Given the description of an element on the screen output the (x, y) to click on. 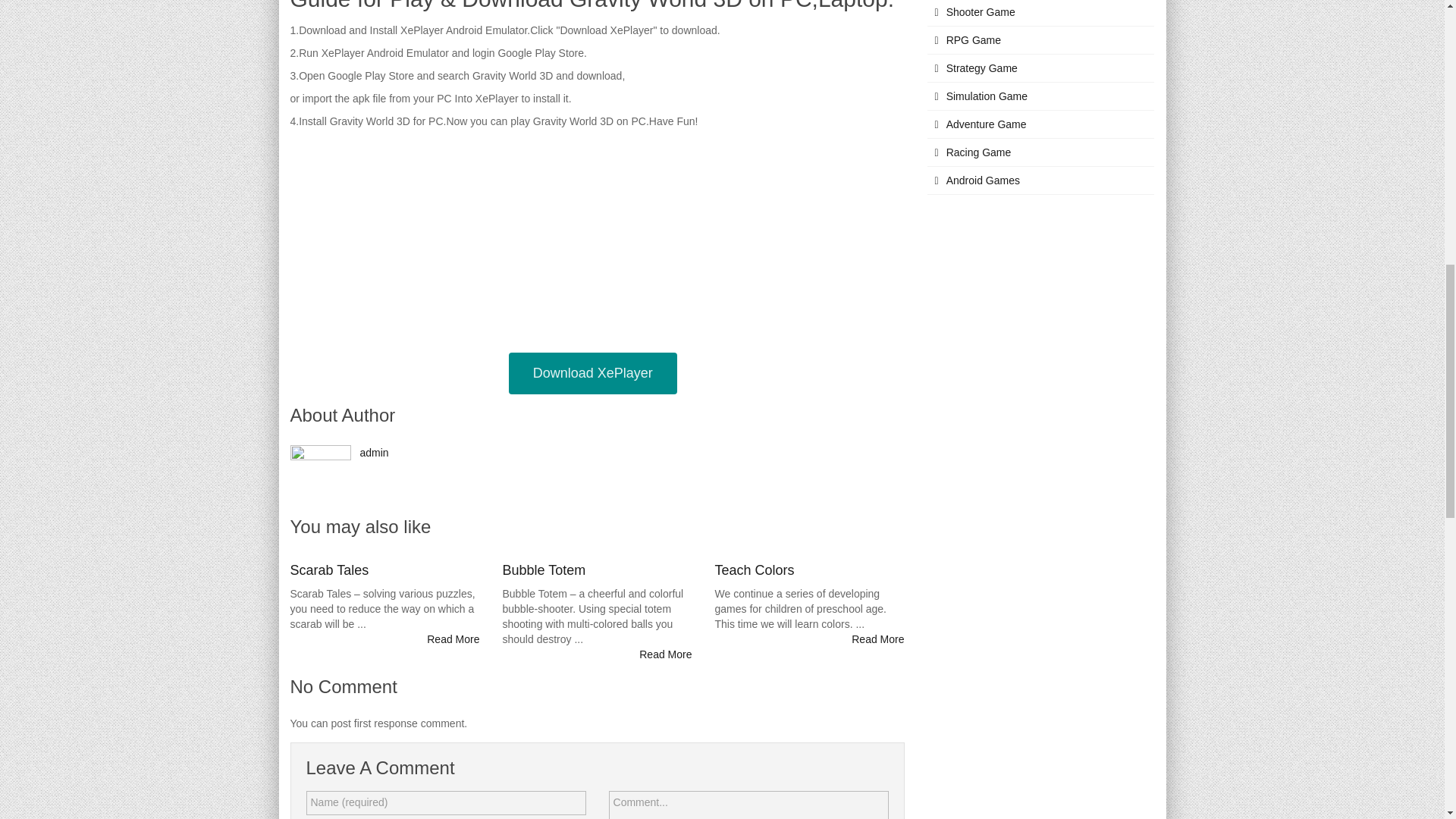
Scarab Tales (328, 570)
Read More (452, 639)
Download XePlayer (592, 372)
Read More (665, 654)
admin (373, 452)
Bubble Totem (543, 570)
